Given the description of an element on the screen output the (x, y) to click on. 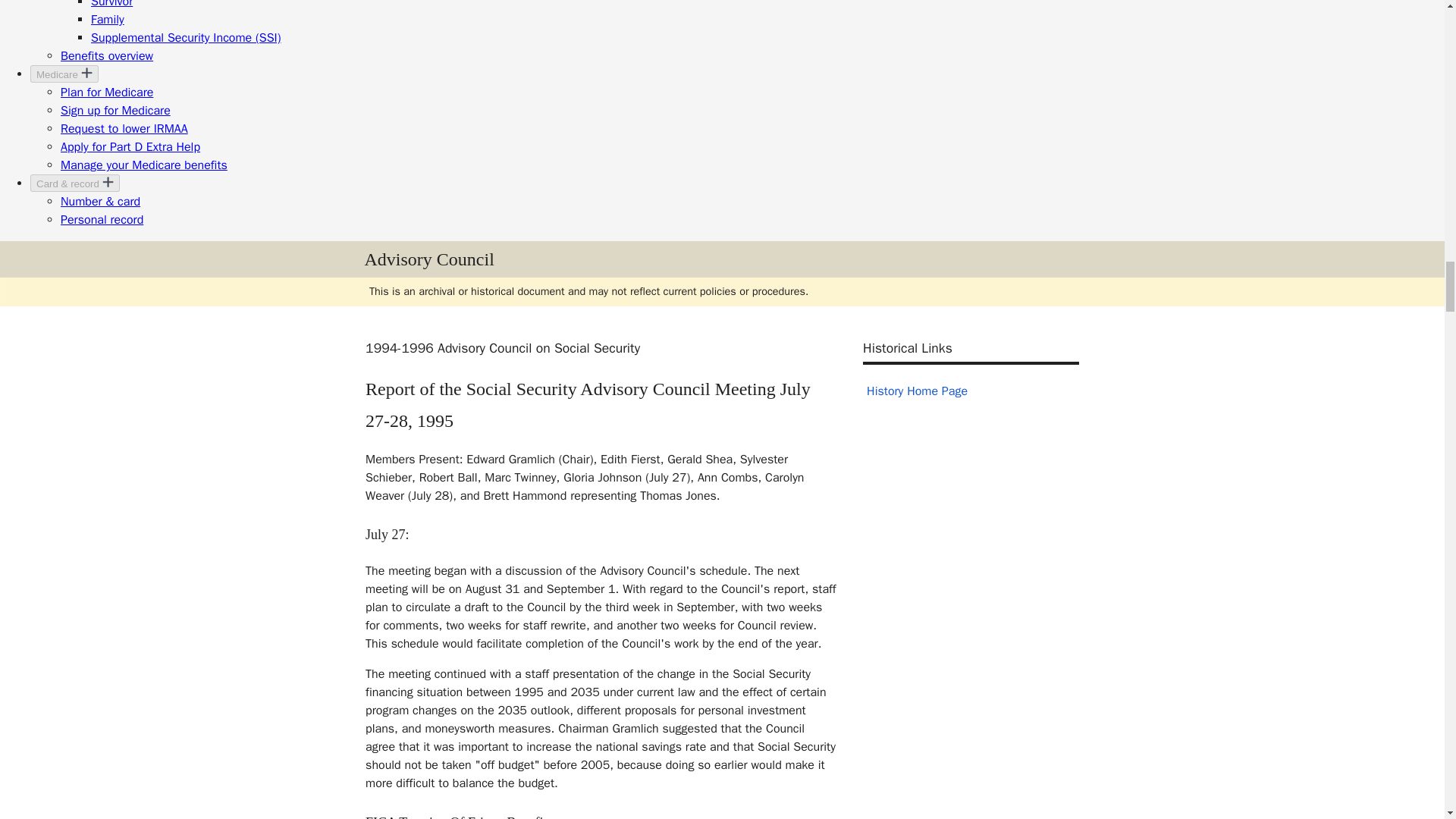
History Home Page (917, 391)
